Given the description of an element on the screen output the (x, y) to click on. 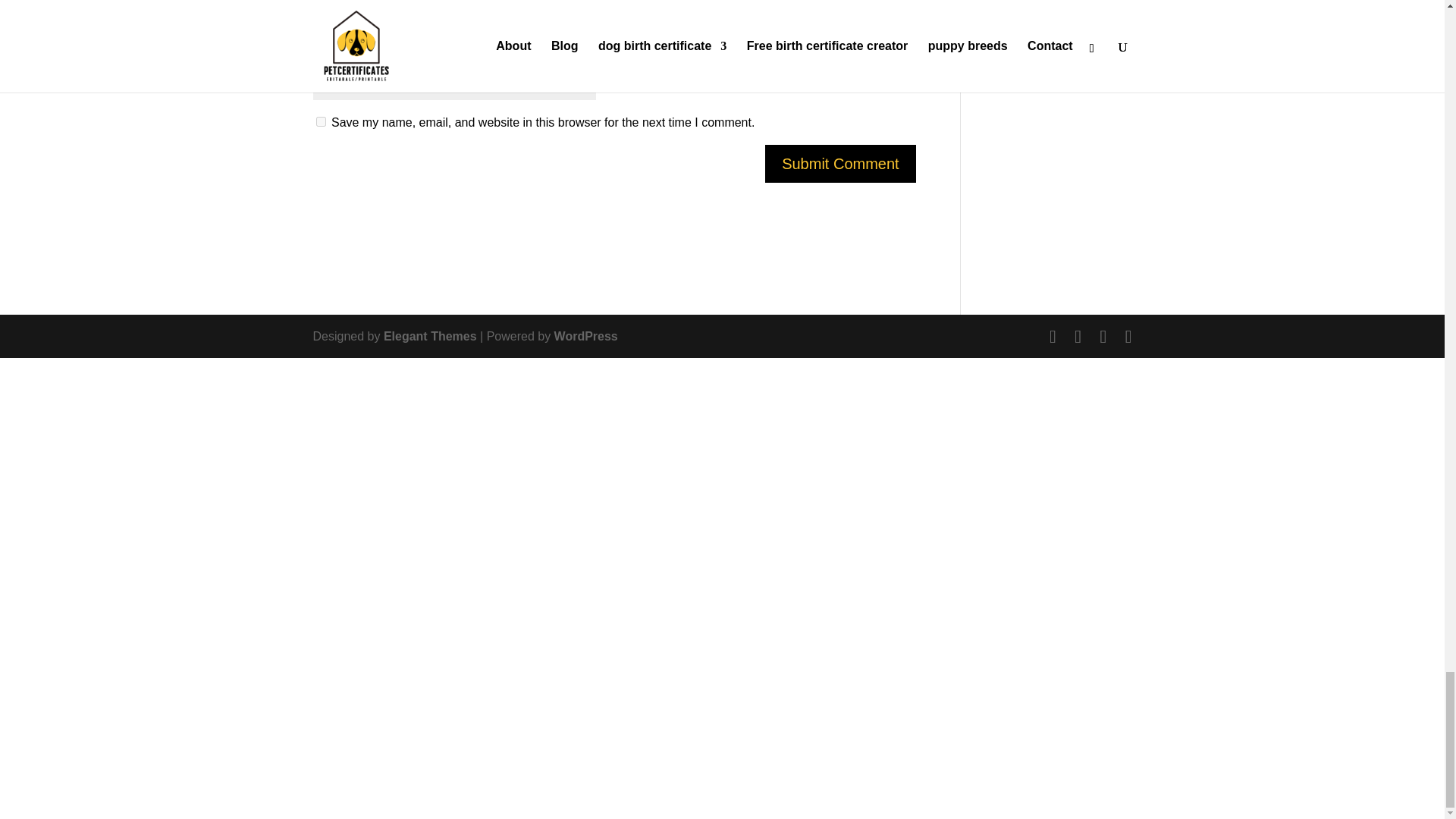
yes (319, 121)
Elegant Themes (430, 336)
Submit Comment (840, 163)
Submit Comment (840, 163)
WordPress (585, 336)
Premium WordPress Themes (430, 336)
